Given the description of an element on the screen output the (x, y) to click on. 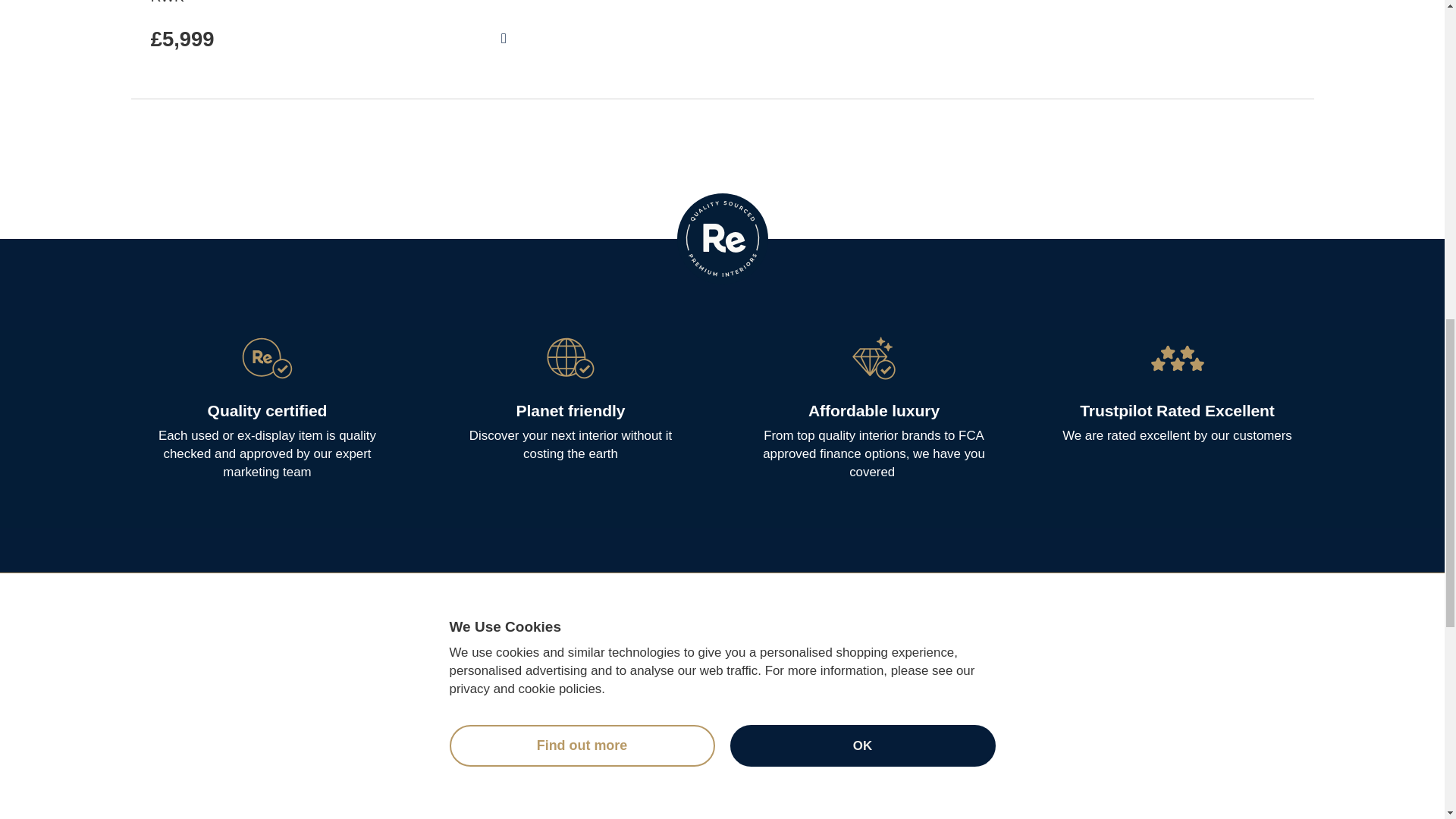
Planet friendly (571, 410)
Save to Favourites List (503, 39)
Quality certified (267, 410)
Trustpilot Rated Excellent (1177, 410)
Affordable luxury (873, 410)
